Given the description of an element on the screen output the (x, y) to click on. 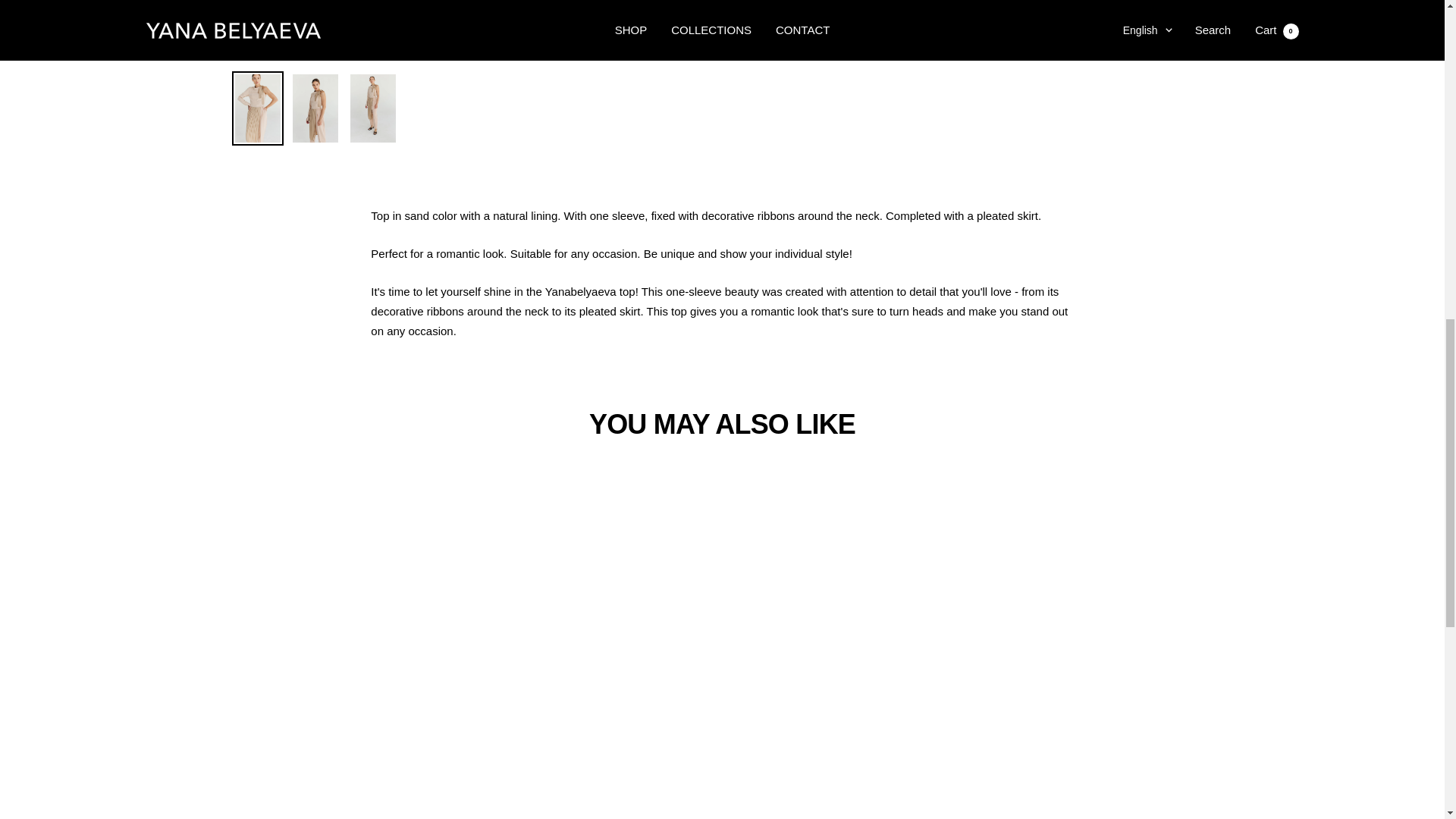
Zoom (686, 32)
